Given the description of an element on the screen output the (x, y) to click on. 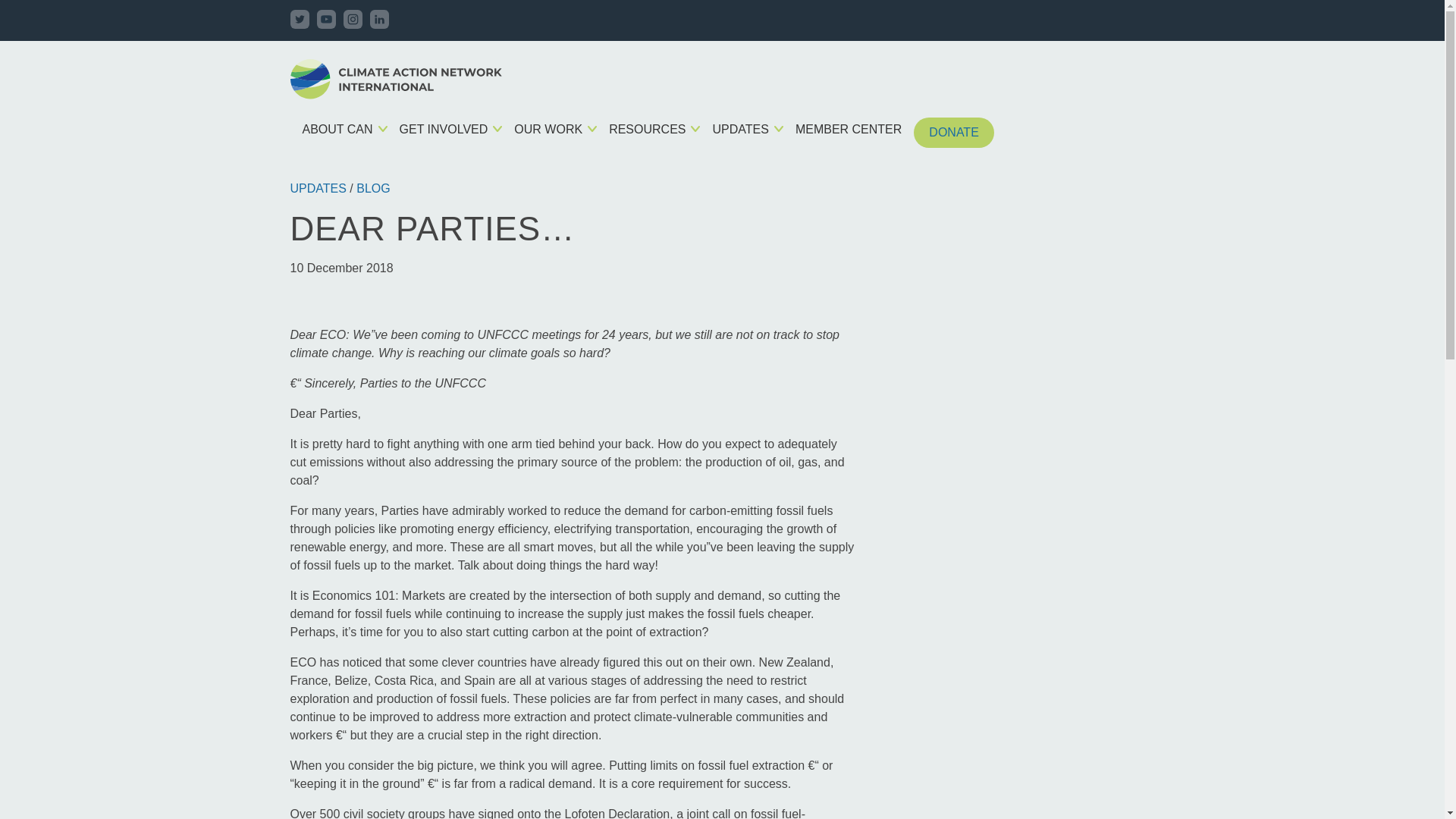
GET INVOLVED (443, 129)
RESOURCES (646, 129)
UPDATES (740, 129)
ABOUT CAN (336, 129)
OUR WORK (548, 129)
